Given the description of an element on the screen output the (x, y) to click on. 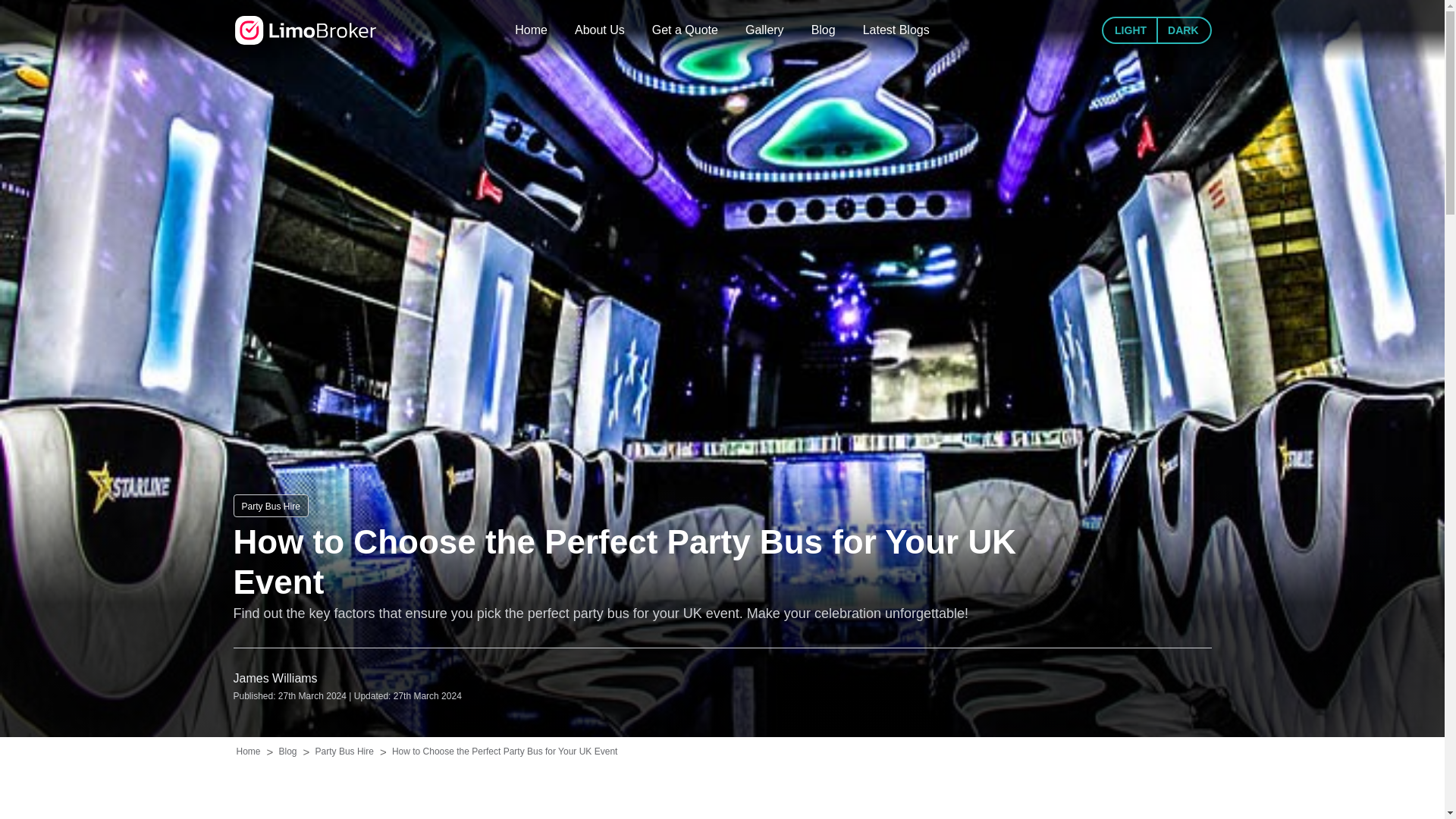
Get a Quote (684, 30)
Get a Quote (684, 30)
Limo Broker (304, 29)
Latest Blogs (896, 30)
Latest Blogs (896, 30)
